Given the description of an element on the screen output the (x, y) to click on. 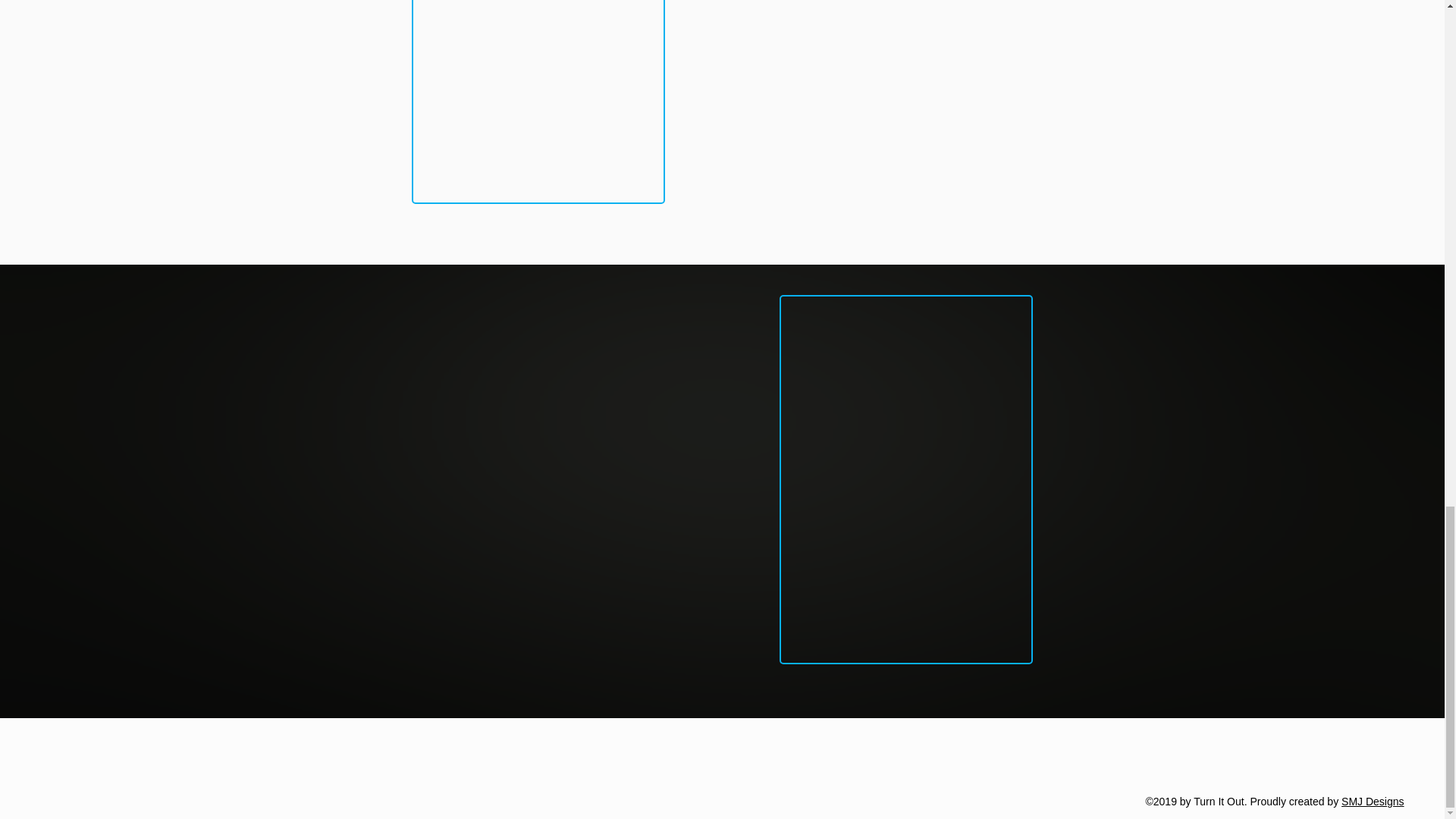
SMJ Designs (1371, 801)
